Given the description of an element on the screen output the (x, y) to click on. 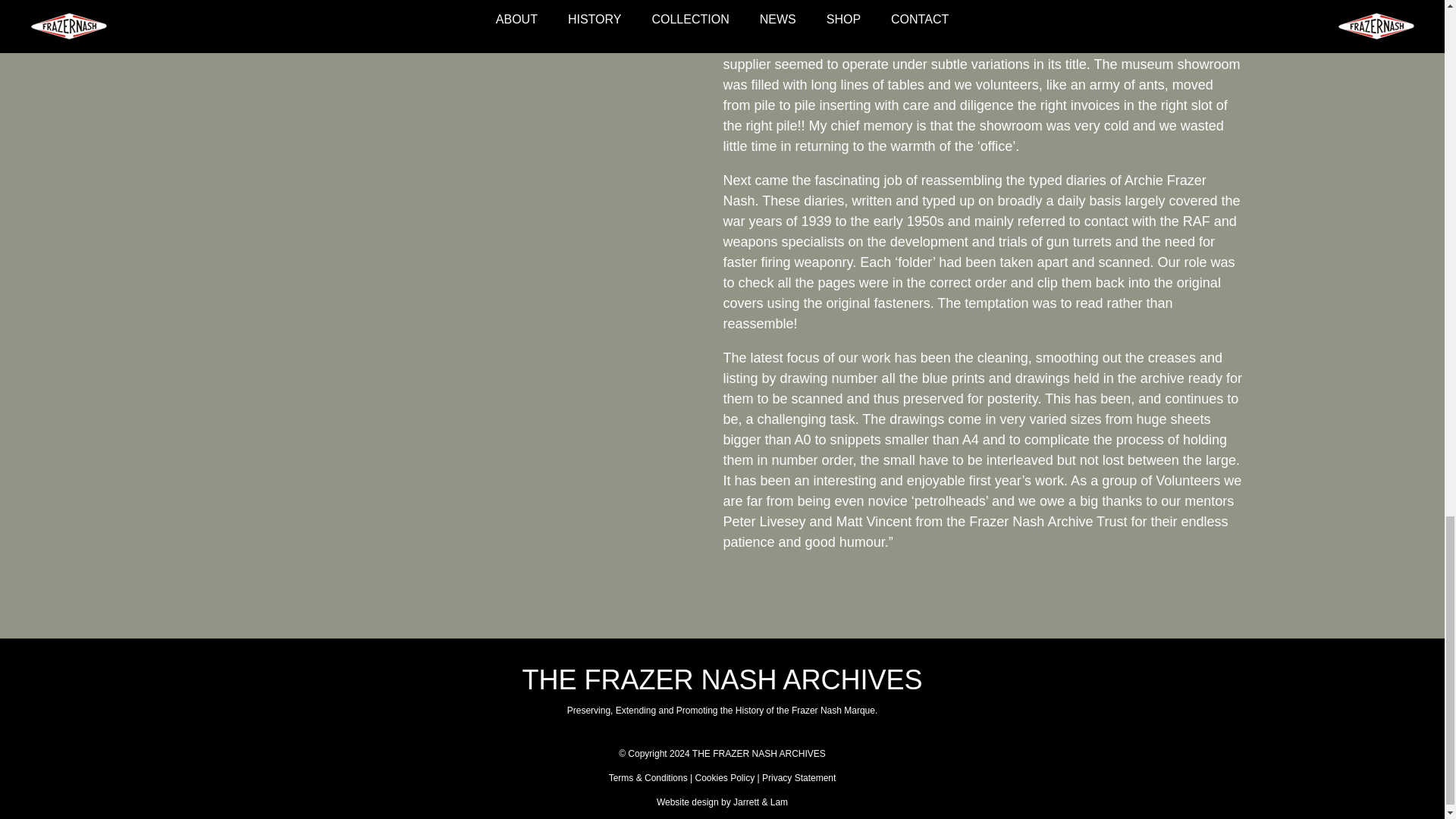
Privacy Statement (798, 777)
Cookies Policy (724, 777)
